Given the description of an element on the screen output the (x, y) to click on. 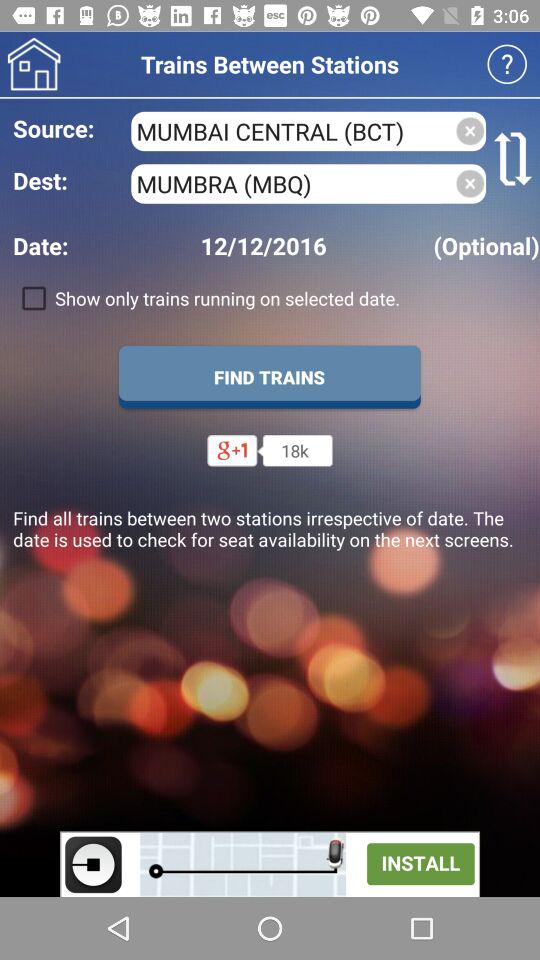
click the cross mark (470, 131)
